Given the description of an element on the screen output the (x, y) to click on. 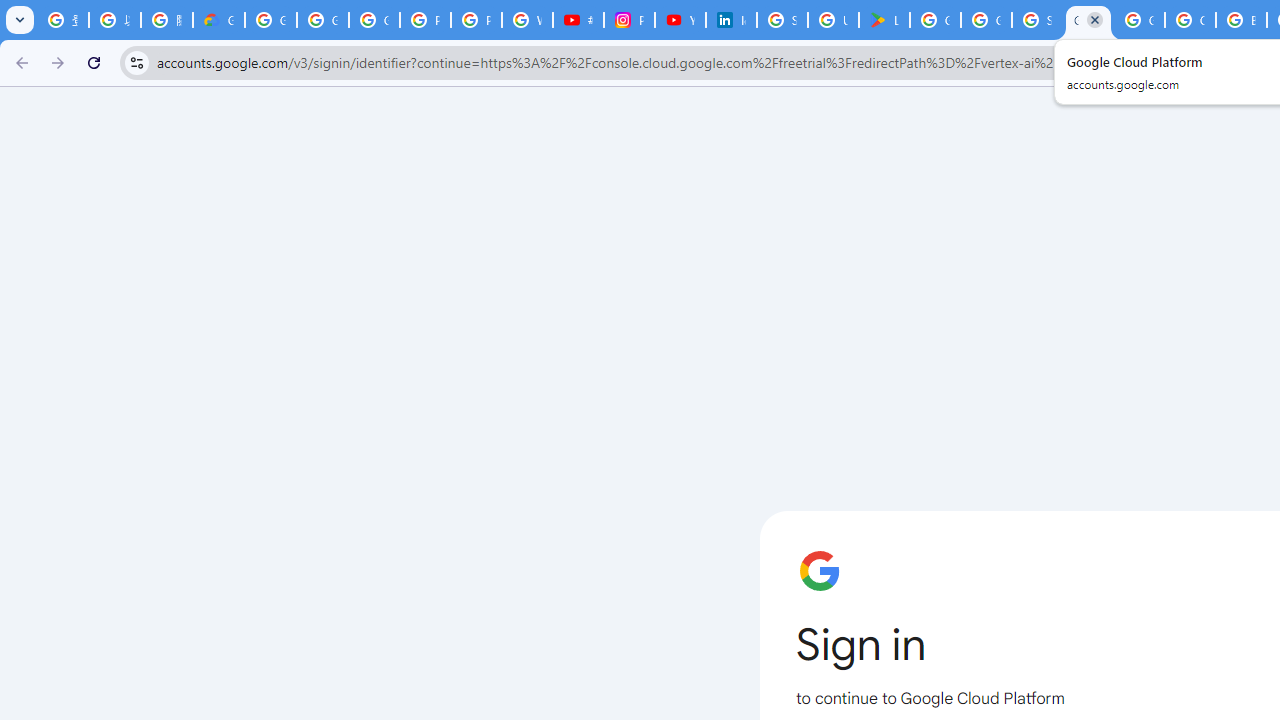
Google Workspace - Specific Terms (986, 20)
